Given the description of an element on the screen output the (x, y) to click on. 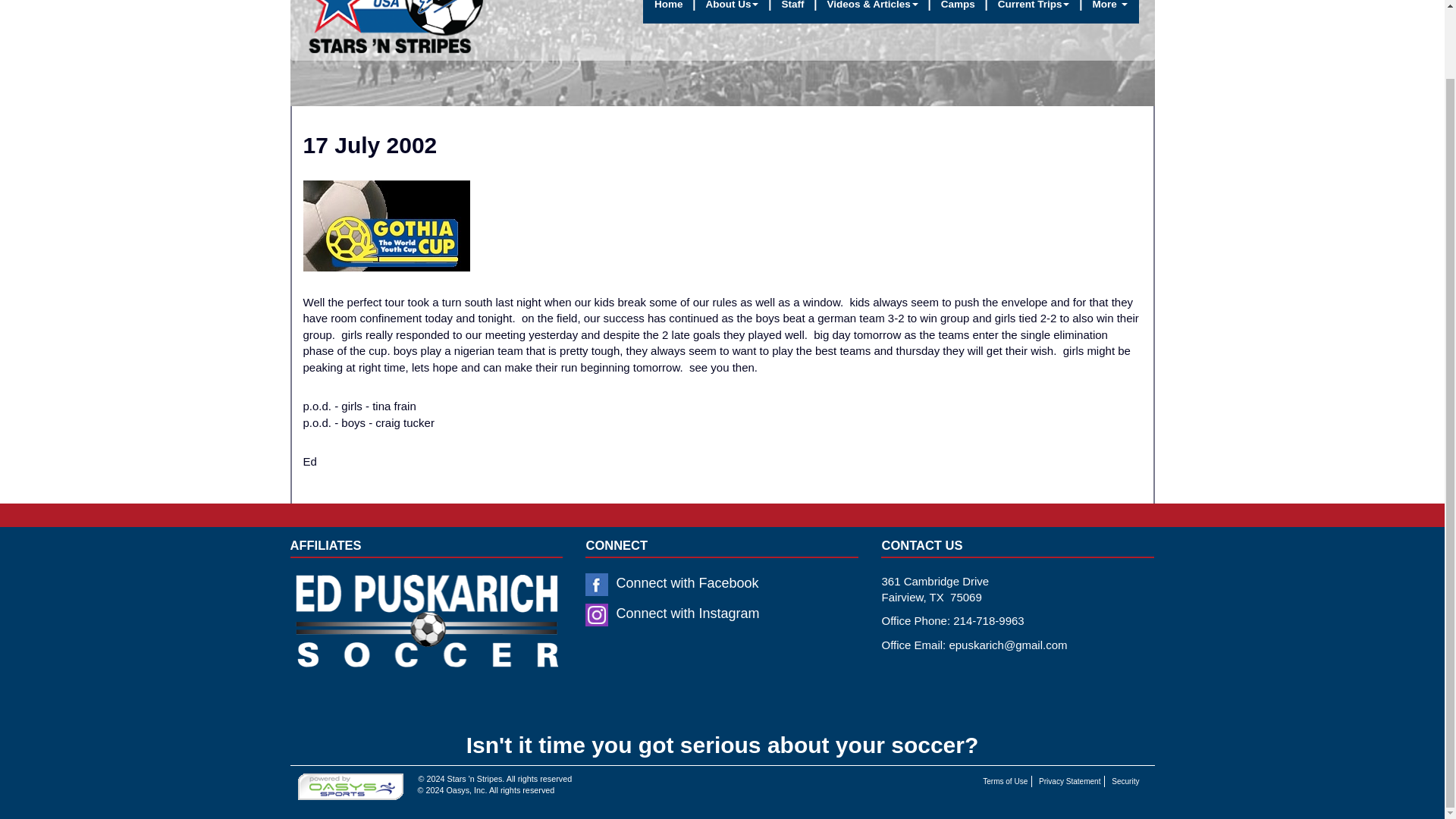
Ed Puskarich Soccer (425, 633)
About Us (732, 11)
Staff (792, 11)
Instagram (596, 614)
Current Trips (1034, 11)
Home (668, 11)
Oasys Sports (414, 778)
Camps (958, 11)
Facebook (596, 584)
